Given the description of an element on the screen output the (x, y) to click on. 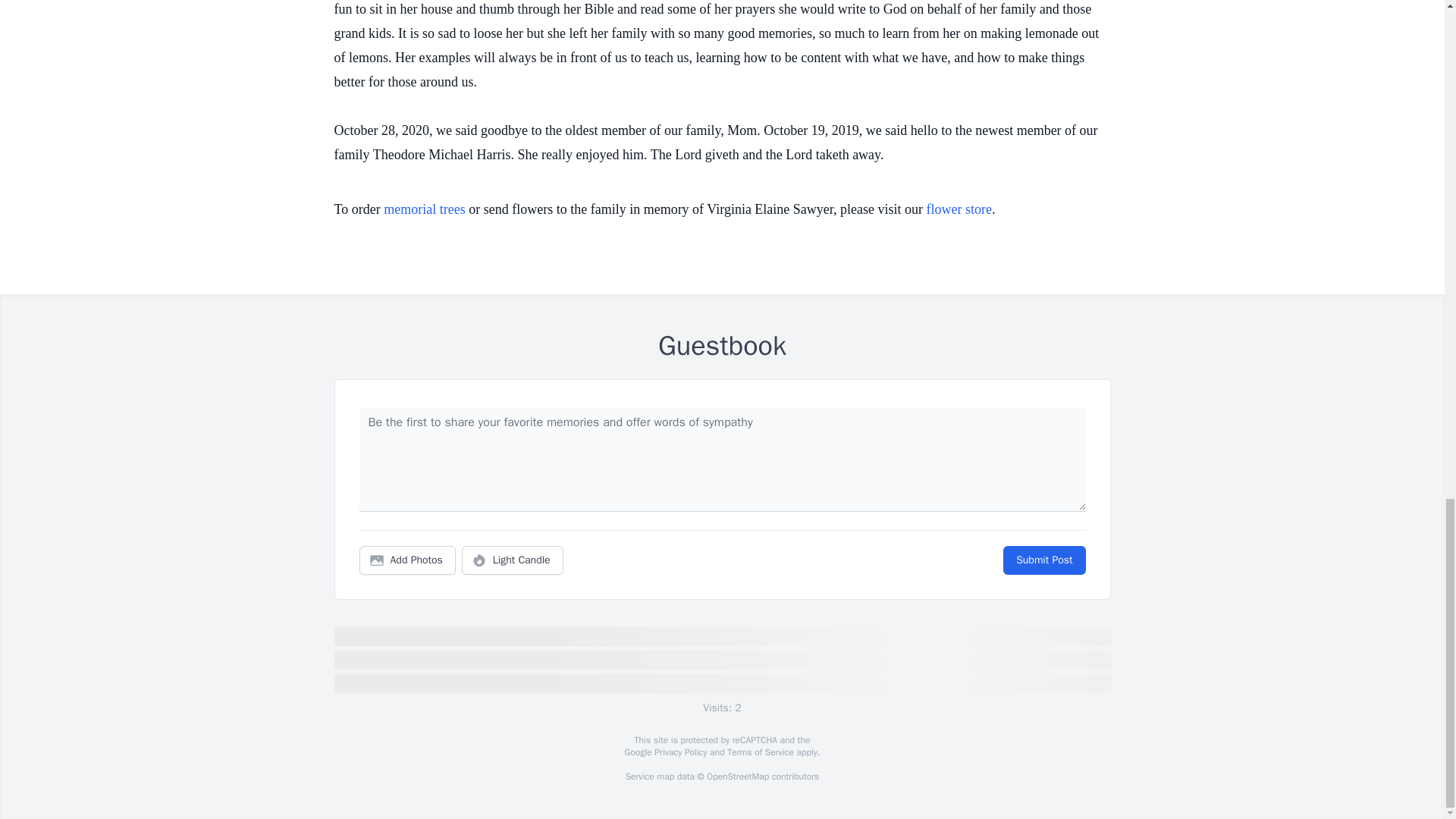
flower store (958, 209)
Terms of Service (759, 752)
Light Candle (512, 560)
memorial trees (424, 209)
Add Photos (407, 560)
Submit Post (1043, 560)
OpenStreetMap (737, 776)
Privacy Policy (679, 752)
